Given the description of an element on the screen output the (x, y) to click on. 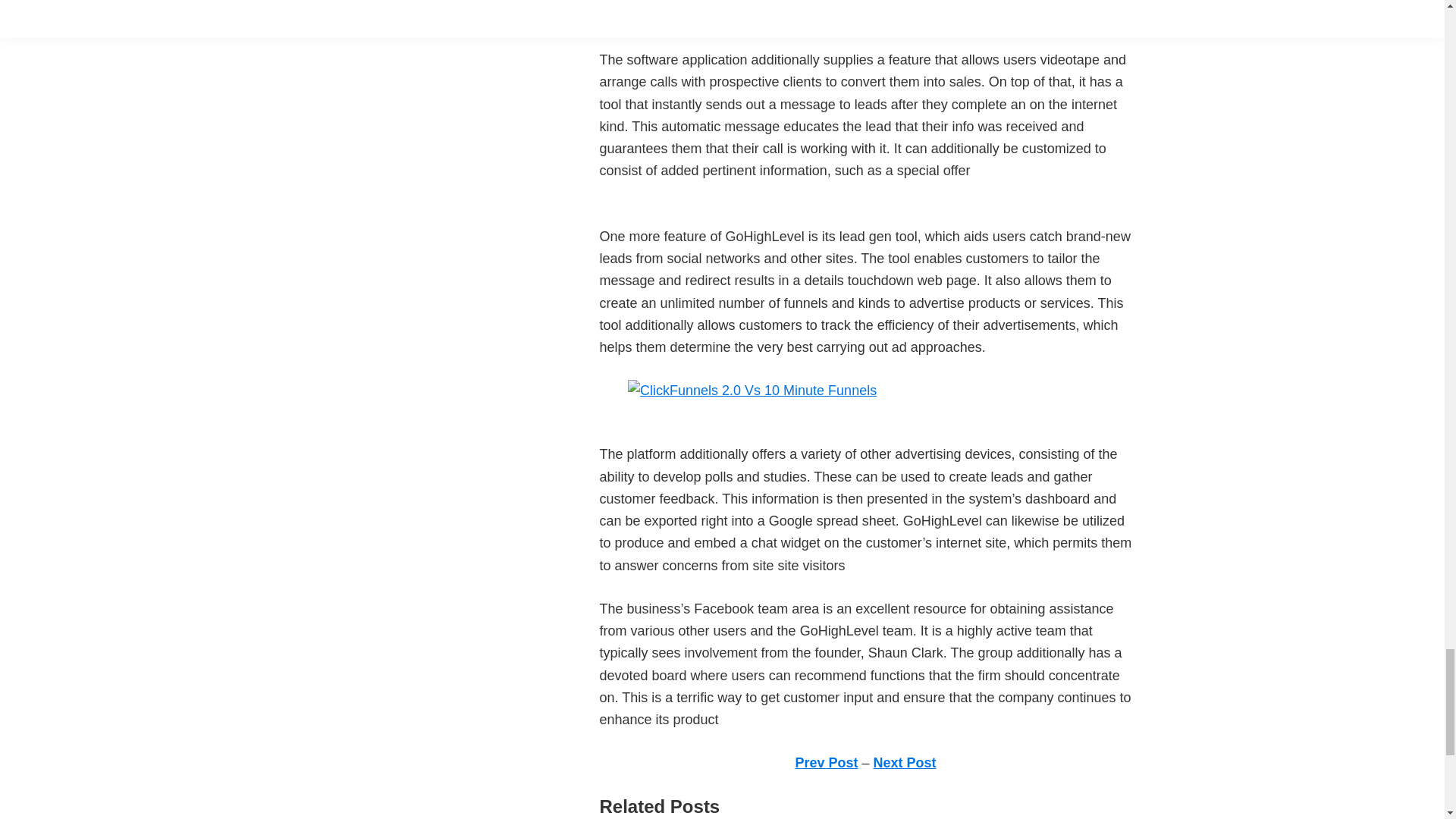
Next Post (904, 762)
Prev Post (825, 762)
